Given the description of an element on the screen output the (x, y) to click on. 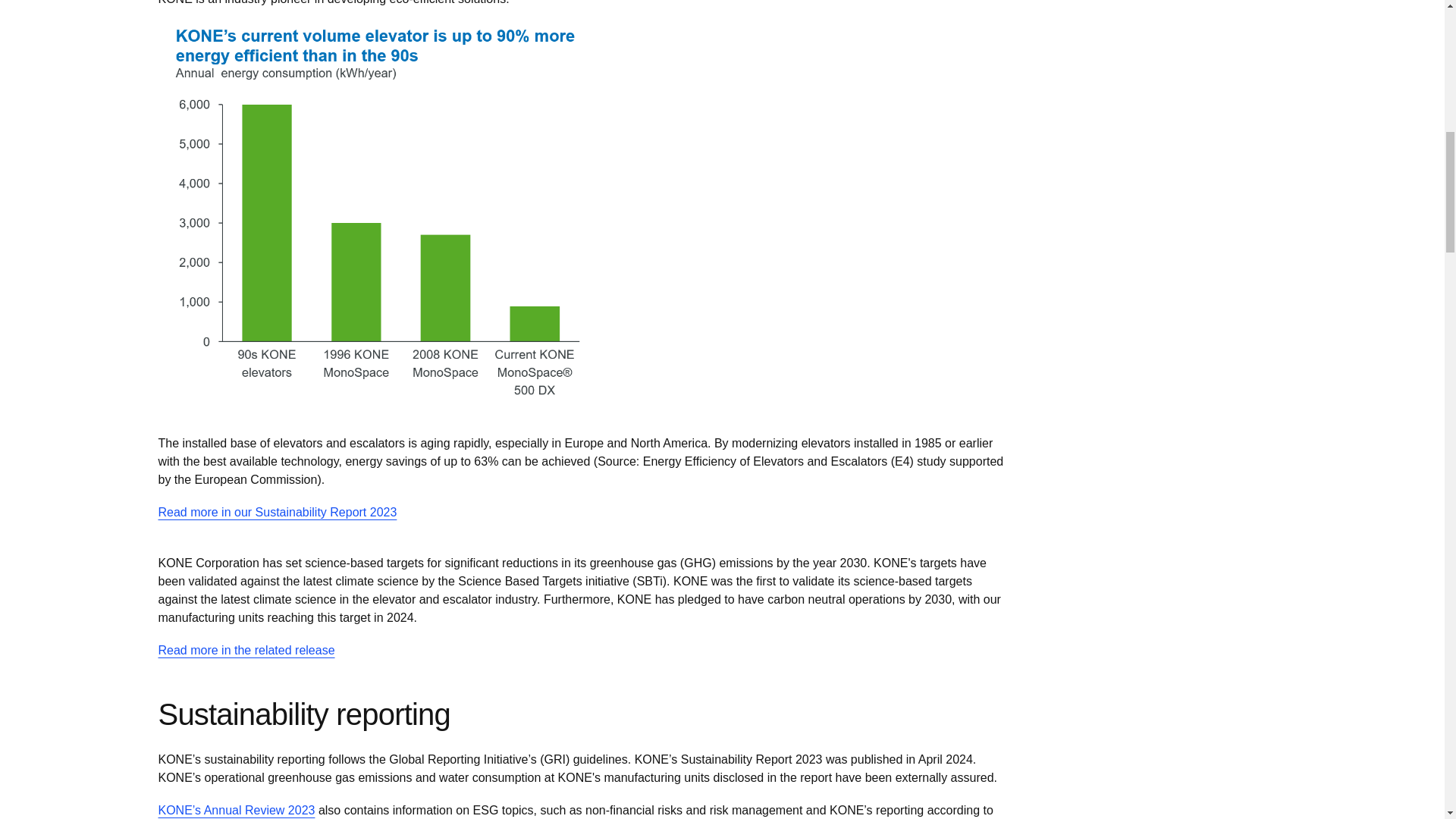
Release on science-based targets (245, 650)
KONE 2023 Sustainability Report (276, 512)
